Given the description of an element on the screen output the (x, y) to click on. 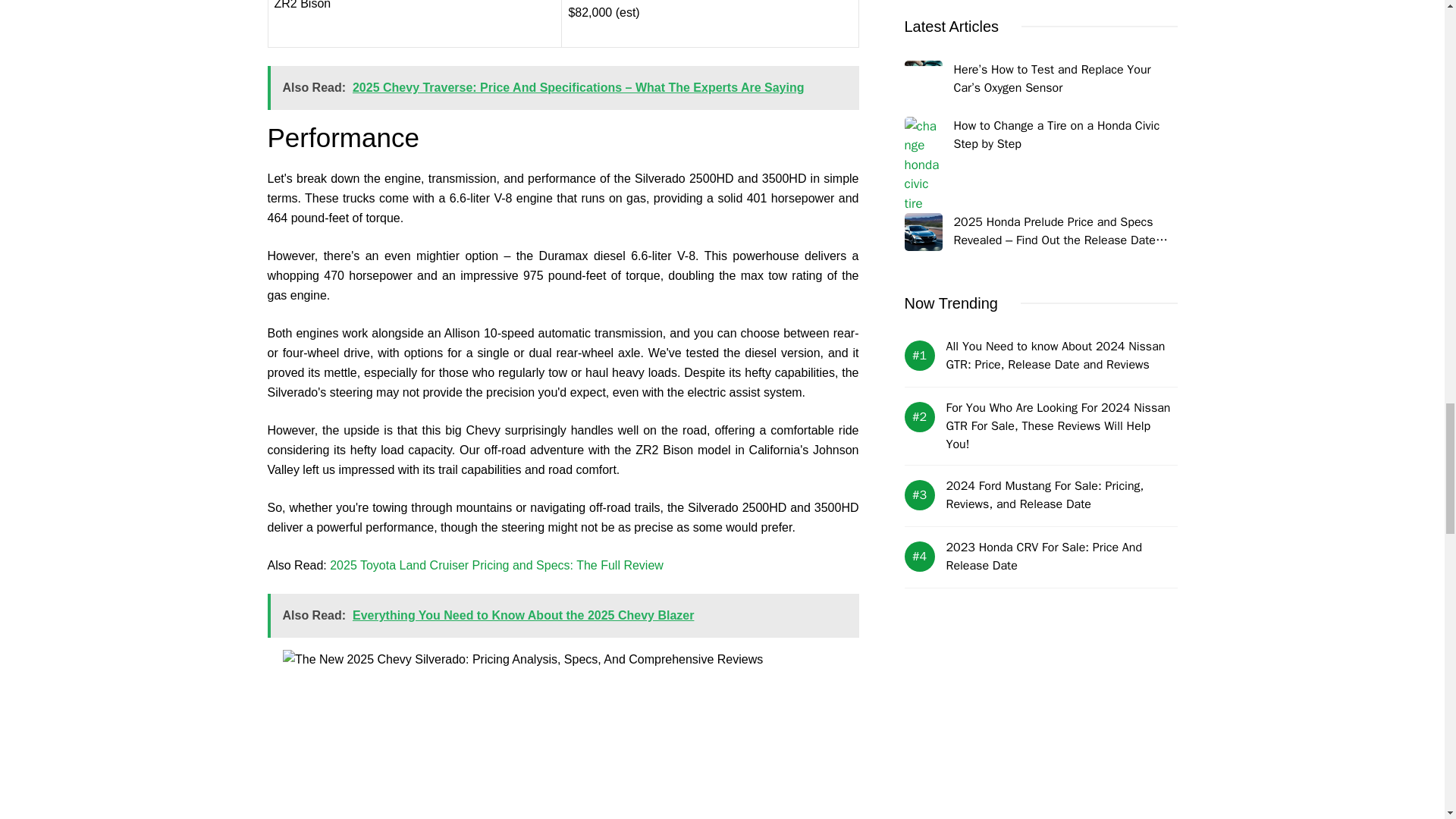
2025 Toyota Land Cruiser Pricing and Specs: The Full Review (496, 564)
